Given the description of an element on the screen output the (x, y) to click on. 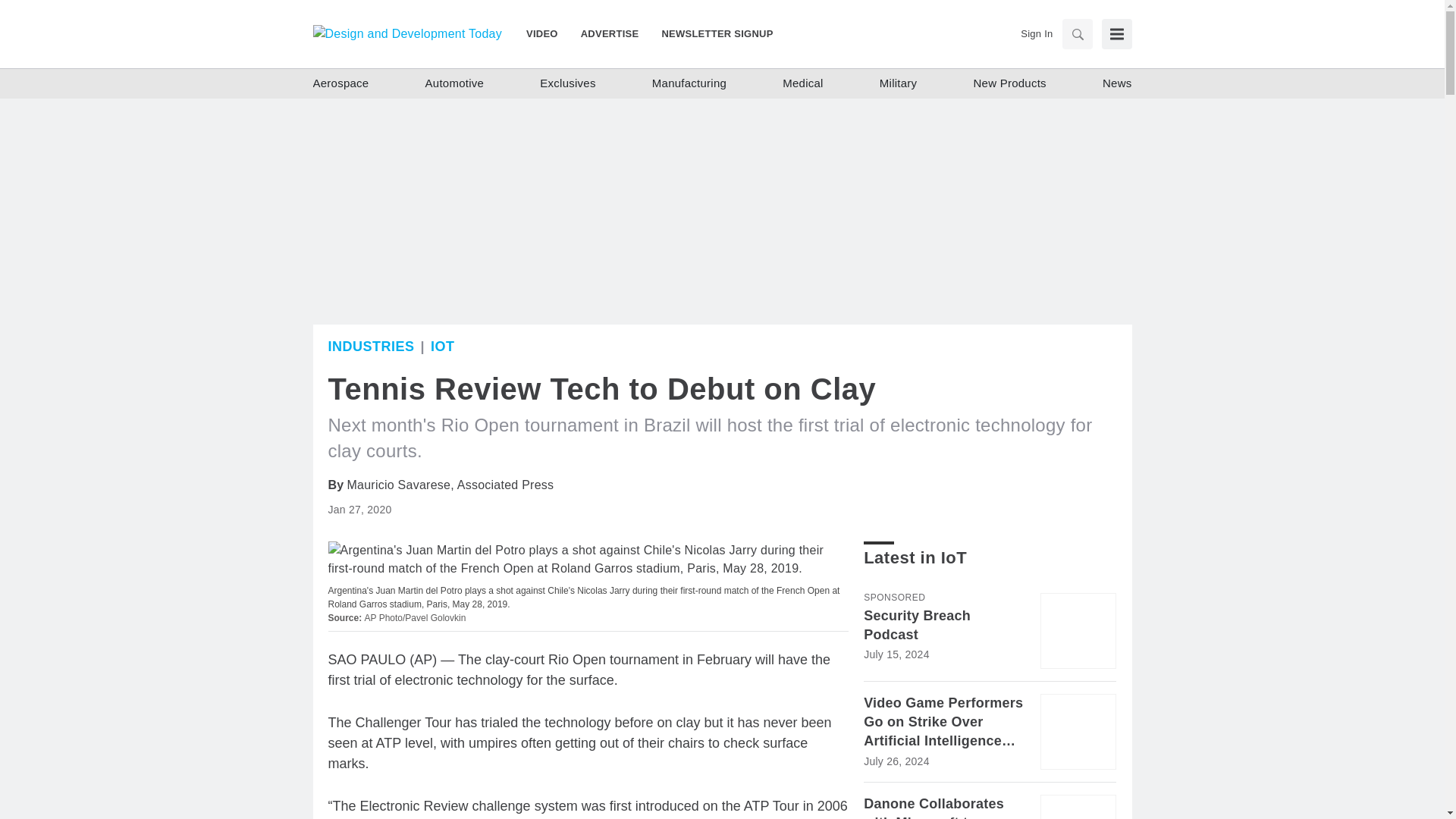
Sponsored (893, 596)
IoT (442, 346)
News (1117, 83)
Industries (370, 346)
ADVERTISE (609, 33)
Aerospace (340, 83)
Automotive (454, 83)
Medical (802, 83)
Exclusives (567, 83)
Sign In (1036, 33)
New Products (1008, 83)
Military (898, 83)
NEWSLETTER SIGNUP (711, 33)
Manufacturing (689, 83)
VIDEO (547, 33)
